Given the description of an element on the screen output the (x, y) to click on. 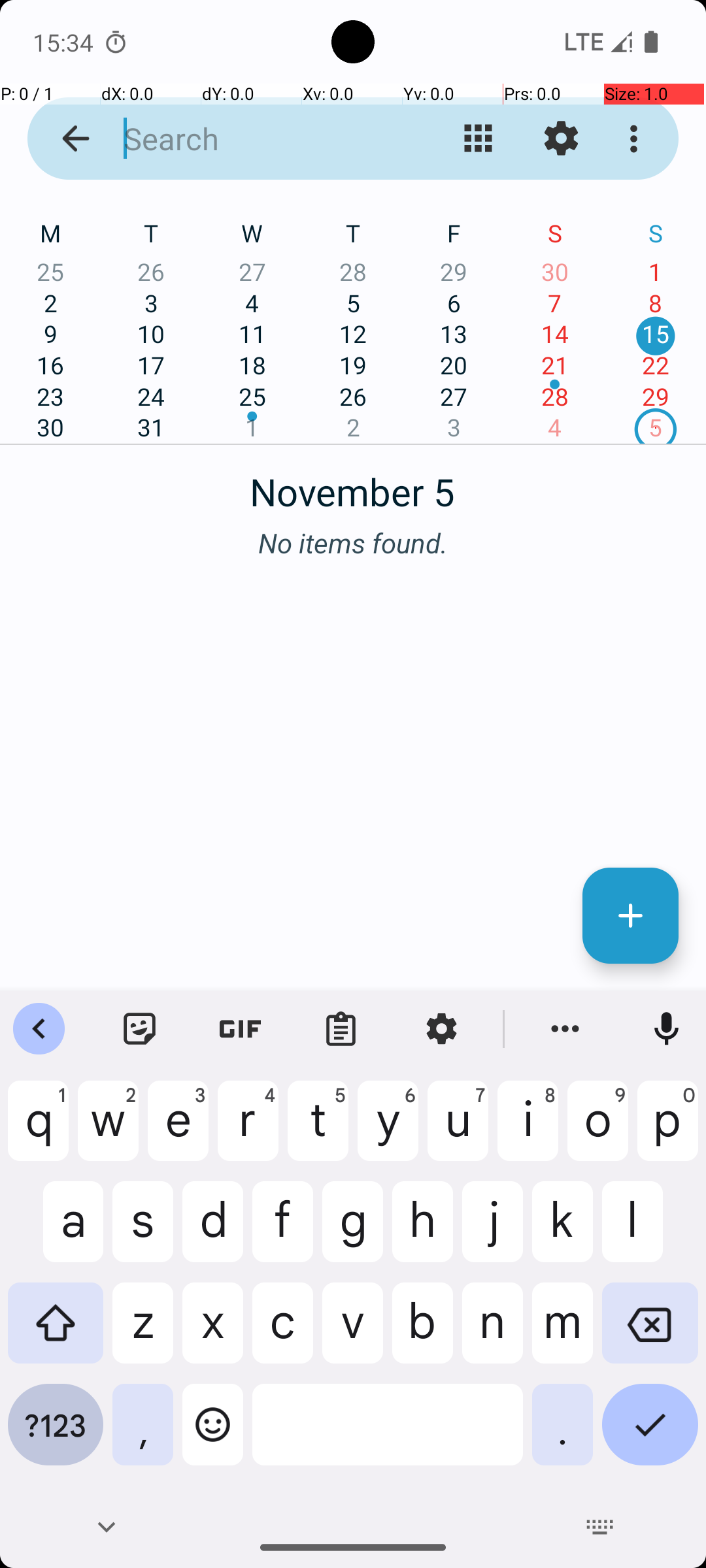
November 5 Element type: android.widget.TextView (352, 483)
